Given the description of an element on the screen output the (x, y) to click on. 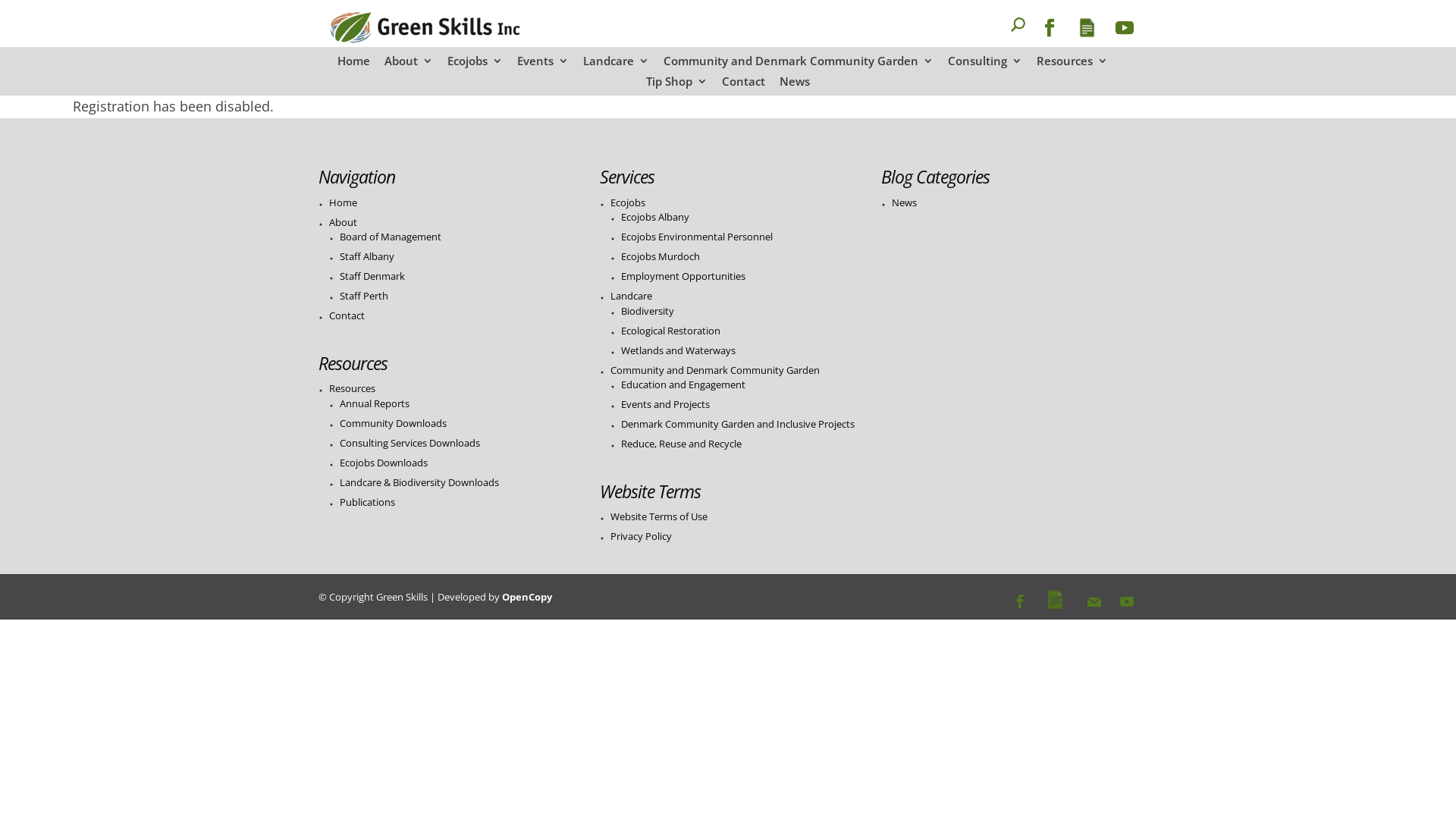
Events Element type: text (542, 65)
Ecological Restoration Element type: text (670, 330)
News Element type: text (794, 85)
Wetlands and Waterways Element type: text (678, 350)
About Element type: text (407, 65)
Publications Element type: text (367, 501)
Landcare Element type: text (615, 65)
Board of Management Element type: text (390, 236)
Consulting Element type: text (984, 65)
Home Element type: text (343, 202)
Employment Opportunities Element type: text (683, 275)
Website Terms of Use Element type: text (658, 516)
OpenCopy Element type: text (527, 596)
Events and Projects Element type: text (665, 404)
Contact Element type: text (346, 315)
Resources Element type: text (352, 388)
Annual Reports Element type: text (374, 403)
Reduce, Reuse and Recycle Element type: text (681, 443)
Staff Denmark Element type: text (371, 275)
Staff Albany Element type: text (366, 256)
Community Downloads Element type: text (392, 422)
Community and Denmark Community Garden Element type: text (714, 369)
Staff Perth Element type: text (363, 295)
News Element type: text (903, 202)
Landcare & Biodiversity Downloads Element type: text (418, 482)
Ecojobs Albany Element type: text (655, 216)
Community and Denmark Community Garden Element type: text (797, 65)
Education and Engagement Element type: text (683, 384)
Ecojobs Downloads Element type: text (383, 462)
Contact Element type: text (743, 85)
  Element type: text (992, 32)
Tip Shop Element type: text (676, 85)
Denmark Community Garden and Inclusive Projects Element type: text (737, 423)
Landcare Element type: text (631, 295)
Ecojobs Environmental Personnel Element type: text (696, 236)
Home Element type: text (352, 65)
Privacy Policy Element type: text (640, 535)
Consulting Services Downloads Element type: text (409, 442)
Ecojobs Element type: text (627, 202)
Ecojobs Murdoch Element type: text (660, 256)
Biodiversity Element type: text (647, 310)
Ecojobs Element type: text (474, 65)
About Element type: text (343, 222)
Resources Element type: text (1071, 65)
